Given the description of an element on the screen output the (x, y) to click on. 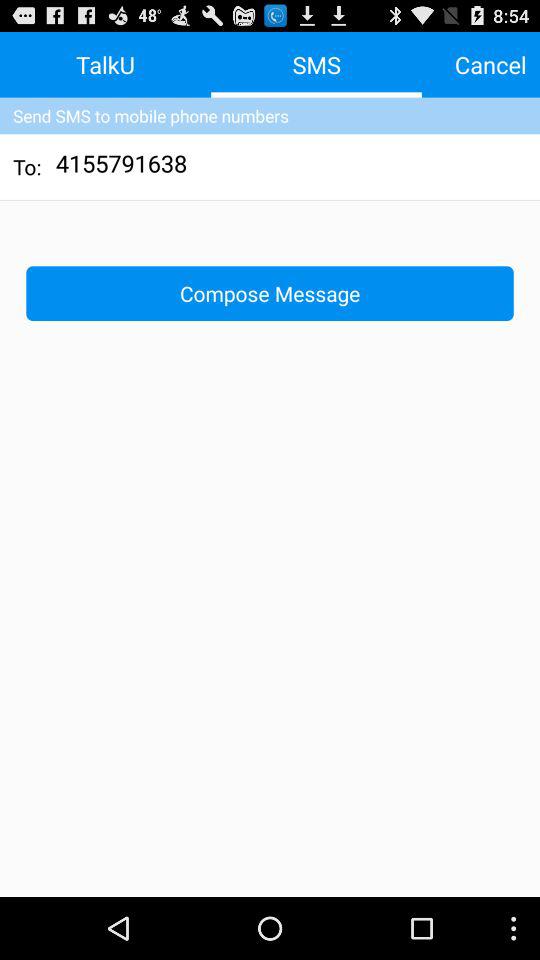
click the icon next to the sms icon (490, 64)
